Given the description of an element on the screen output the (x, y) to click on. 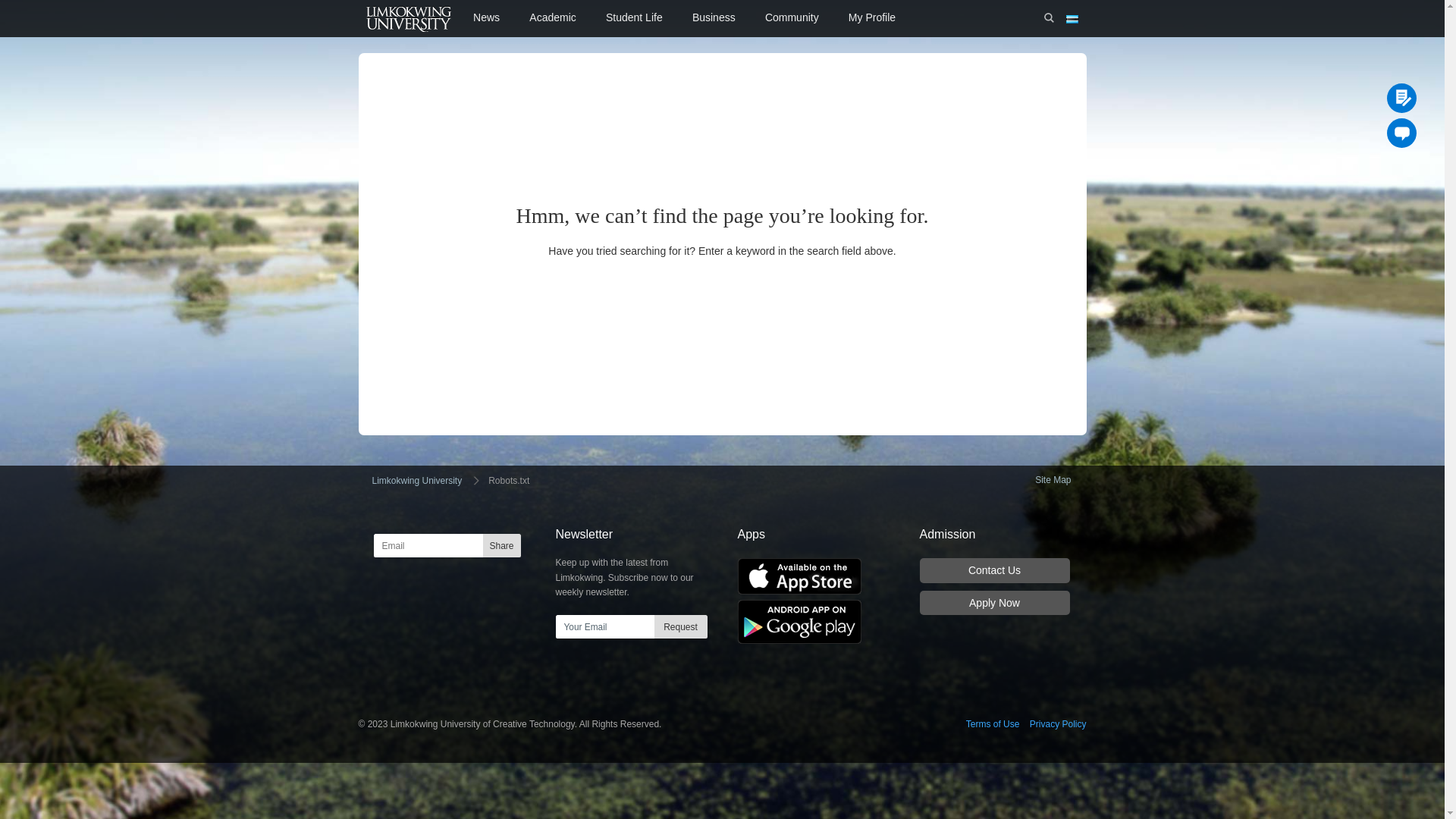
News Element type: text (486, 18)
Community Element type: text (791, 18)
Contact Us Element type: text (994, 570)
Request Element type: text (679, 627)
Share Element type: text (501, 545)
Limkokwing University of Creative Technology Element type: text (407, 18)
Academic Element type: text (552, 18)
My Profile Element type: text (871, 18)
Privacy Policy Element type: text (1057, 723)
Business Element type: text (713, 18)
Limkokwing University Element type: text (416, 480)
Apply Now Element type: text (994, 602)
Student Life Element type: text (633, 18)
Site Map Element type: text (1052, 480)
Terms of Use Element type: text (992, 723)
